Given the description of an element on the screen output the (x, y) to click on. 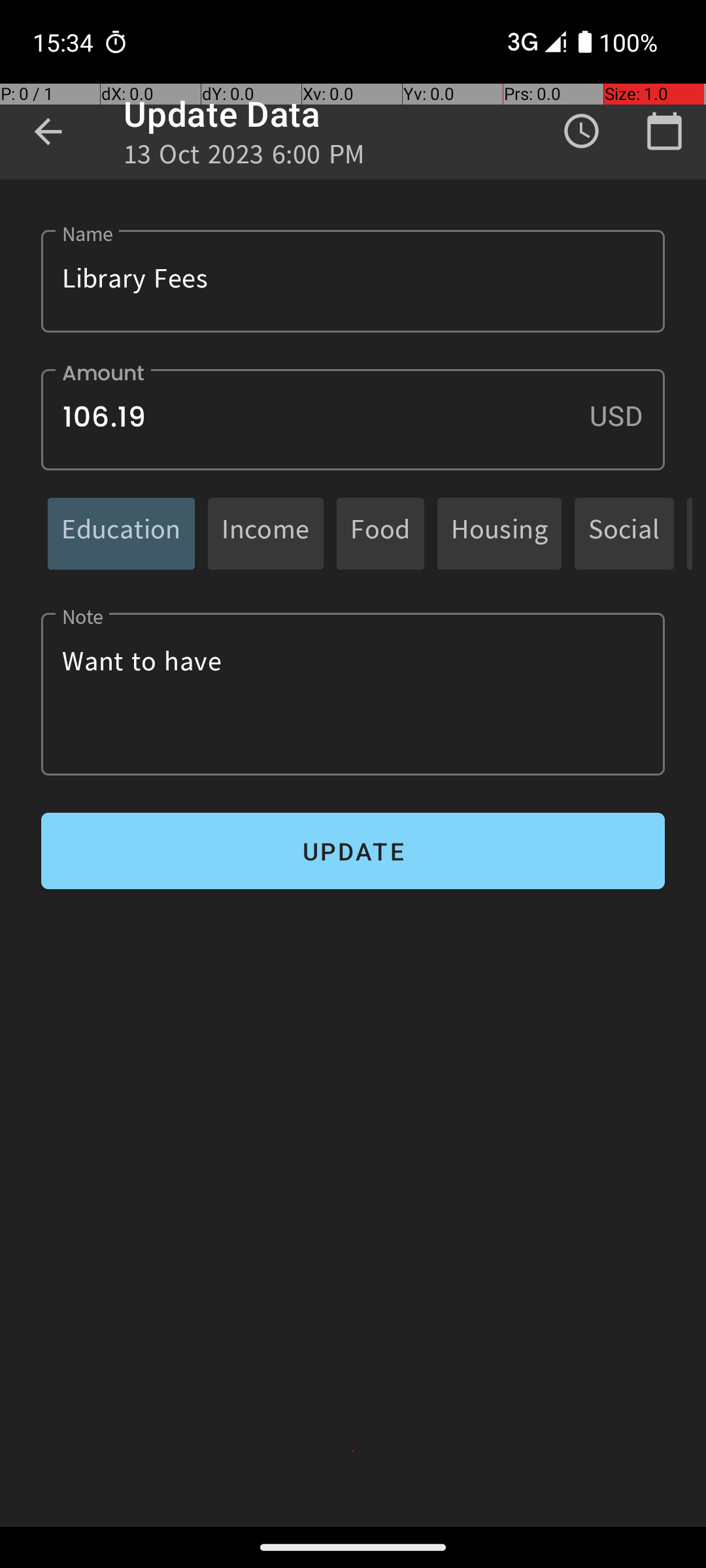
13 Oct 2023 6:00 PM Element type: android.widget.TextView (244, 157)
106.19 Element type: android.widget.EditText (352, 419)
Education Element type: android.widget.TextView (121, 533)
